Given the description of an element on the screen output the (x, y) to click on. 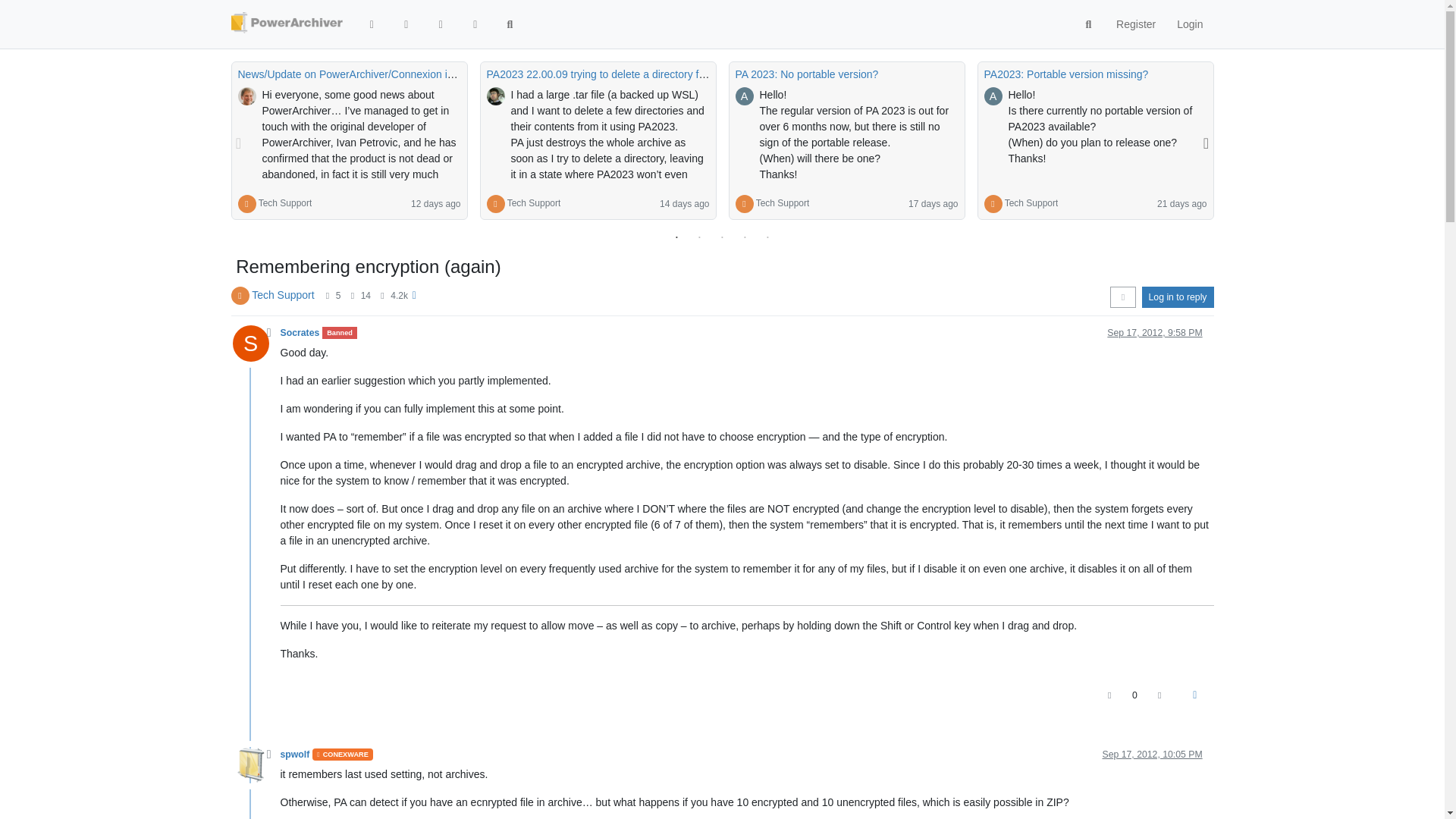
Register (1135, 24)
Popular (475, 24)
PA2023: Portable version missing? (1066, 73)
A (744, 96)
Search (510, 24)
Jul 11, 2024, 6:12 AM (435, 204)
Tech Support (286, 203)
Login (1189, 24)
Tech Support (1031, 203)
Tech Support (533, 203)
Tech Support (286, 203)
PA 2023: No portable version? (807, 73)
TheAndyMac (247, 95)
Categories (372, 24)
Search (1088, 24)
